Given the description of an element on the screen output the (x, y) to click on. 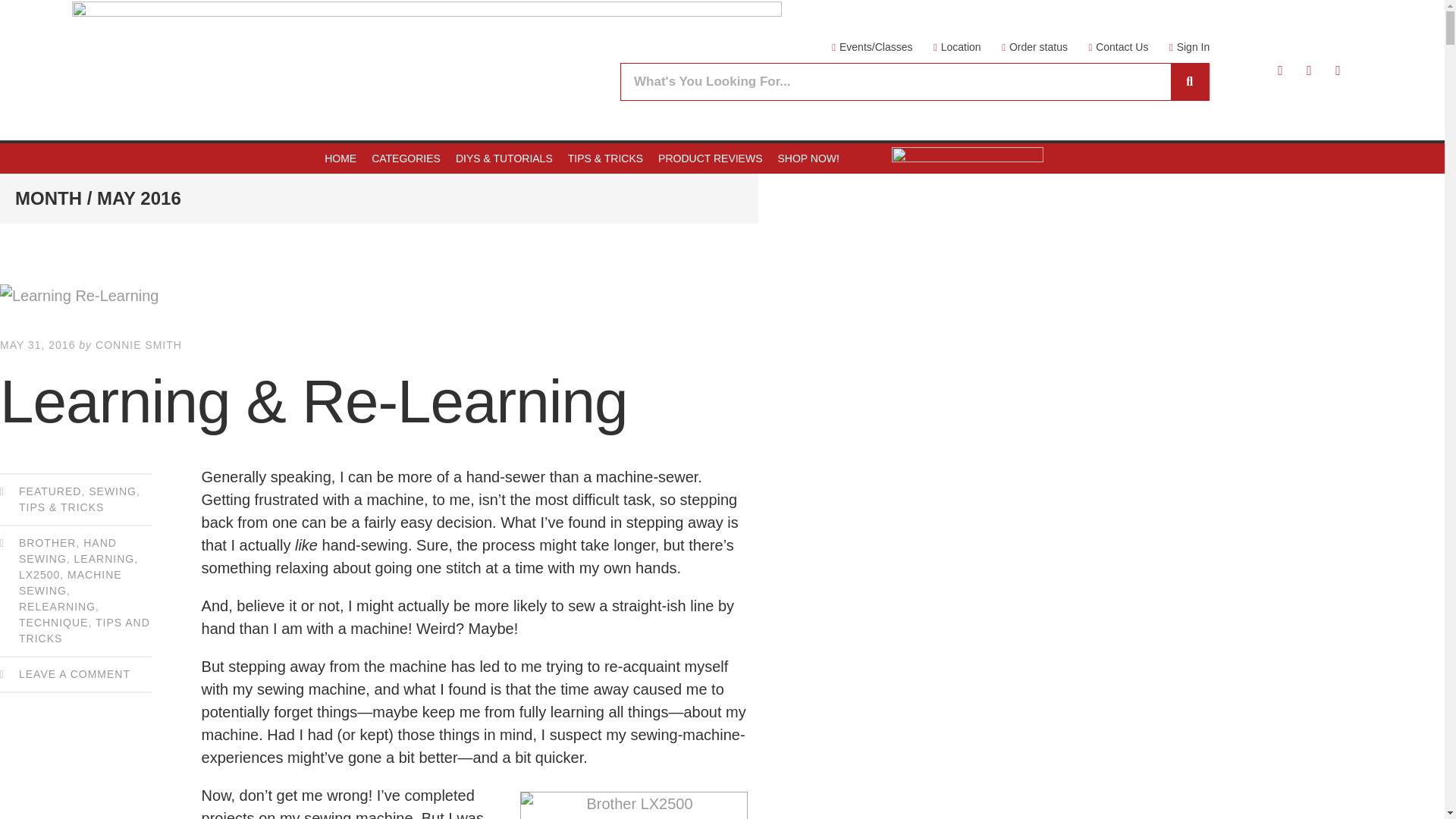
SHOP NOW! (808, 158)
Search (1189, 81)
CATEGORIES (406, 158)
Search (895, 81)
HOME (340, 158)
PRODUCT REVIEWS (709, 158)
